Given the description of an element on the screen output the (x, y) to click on. 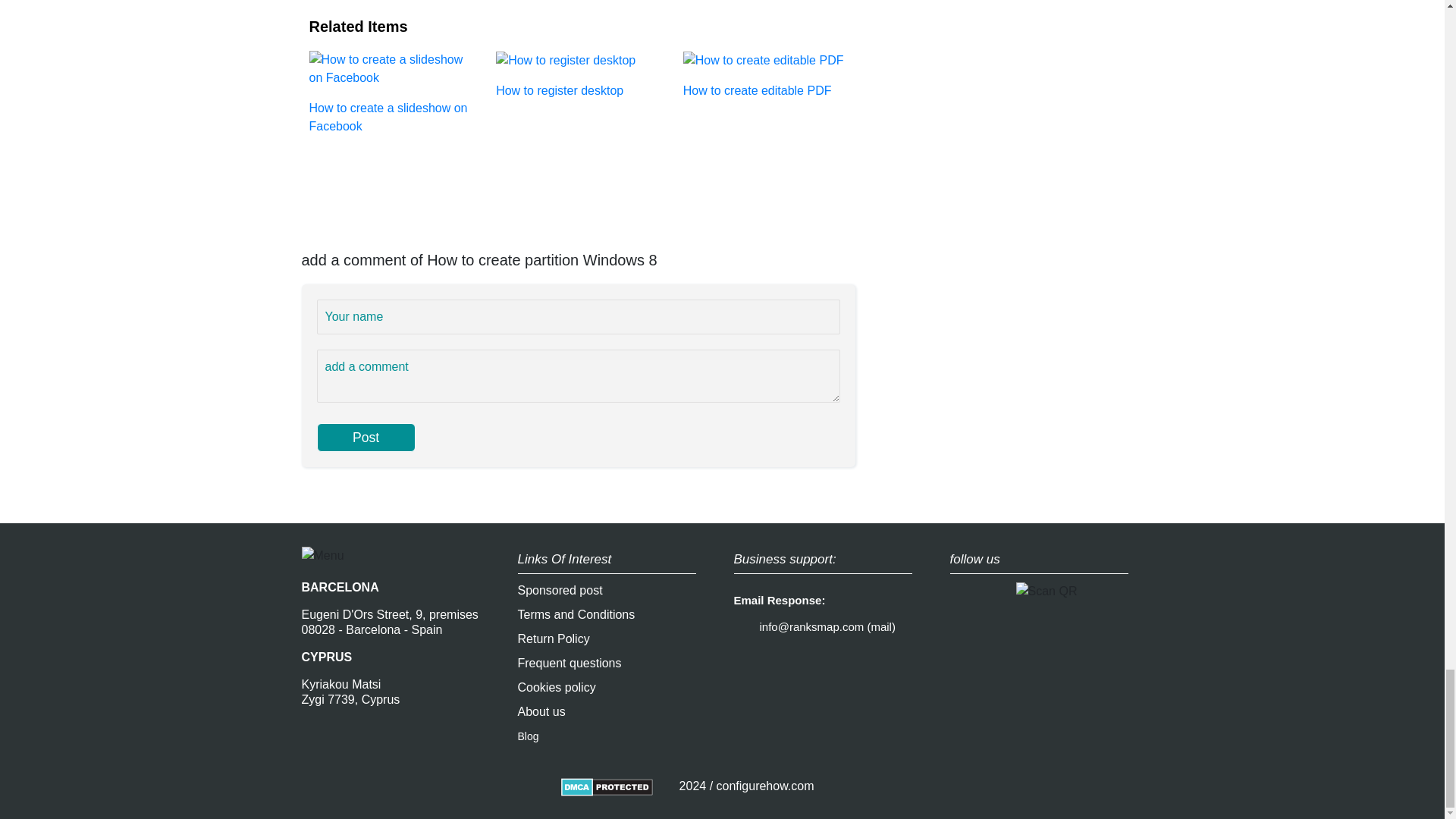
Blog (527, 736)
How to create a slideshow on Facebook (391, 91)
How to register desktop (578, 73)
How to register desktop (578, 73)
How to create editable PDF (764, 73)
How to create editable PDF (764, 73)
How to create a slideshow on Facebook (391, 91)
Post (365, 437)
